Given the description of an element on the screen output the (x, y) to click on. 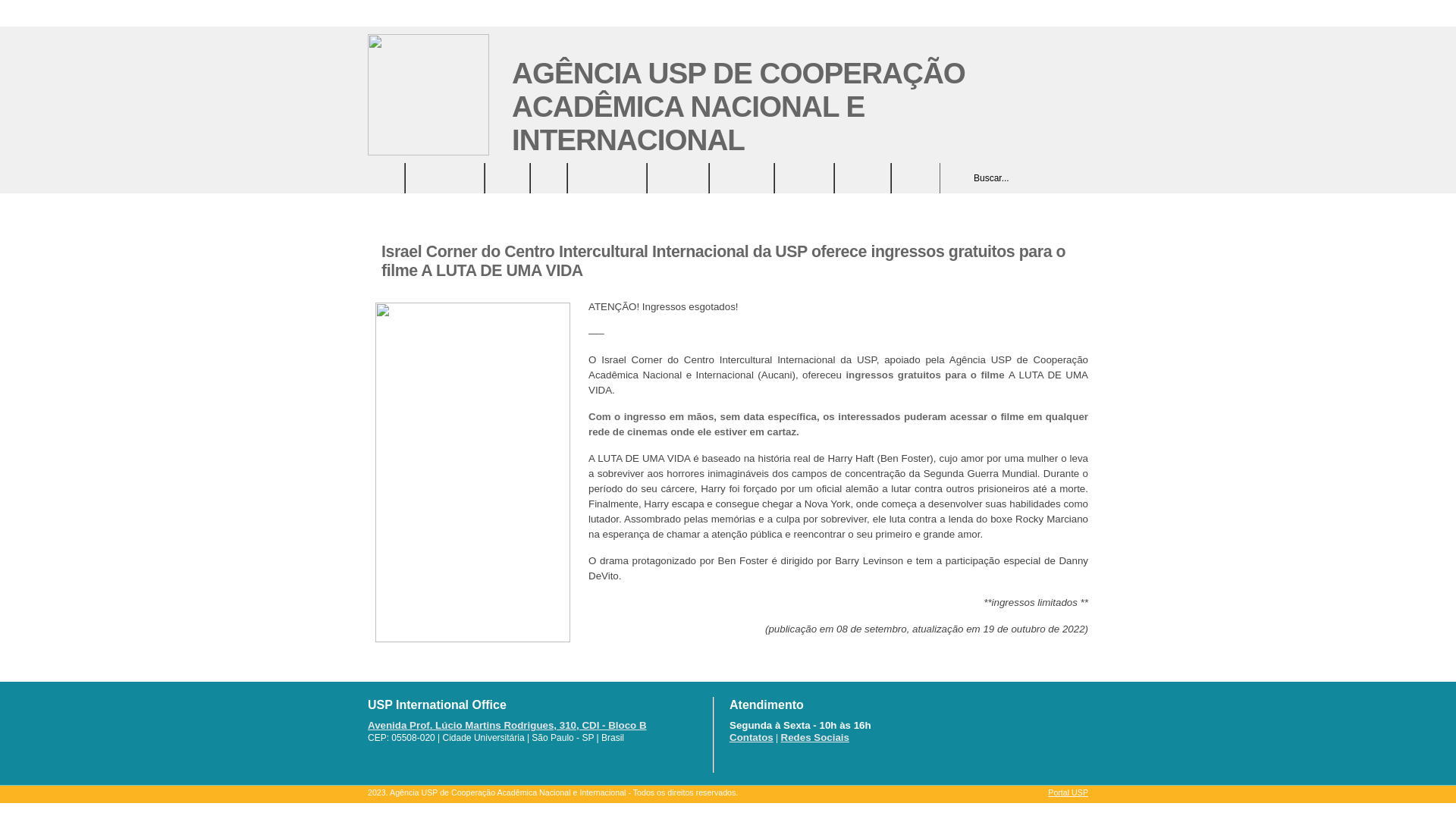
HOME Element type: text (385, 178)
INCOMING Element type: text (862, 178)
EQUIPE Element type: text (506, 178)
A USP Element type: text (548, 178)
Redes Sociais Element type: text (815, 737)
IDIOMAS Element type: text (915, 178)
Contatos Element type: text (751, 737)
PT-BR Element type: text (1057, 11)
OUTGOING Element type: text (804, 178)
EN-UK Element type: text (1079, 11)
INSTITUCIONAL Element type: text (444, 178)
Portal USP Element type: text (1068, 792)
